Given the description of an element on the screen output the (x, y) to click on. 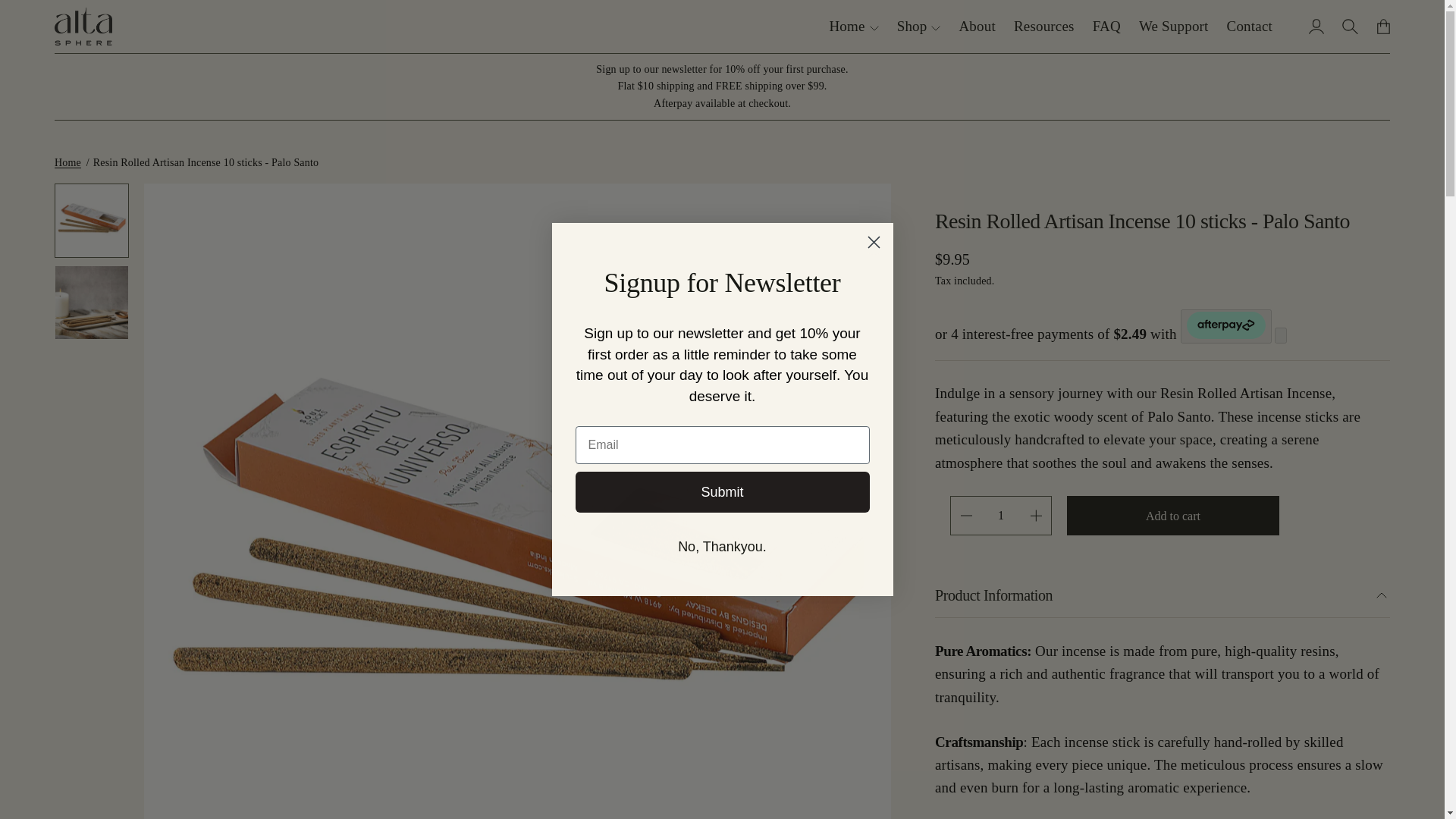
1 (1000, 515)
Home (852, 26)
Shop (918, 26)
